Given the description of an element on the screen output the (x, y) to click on. 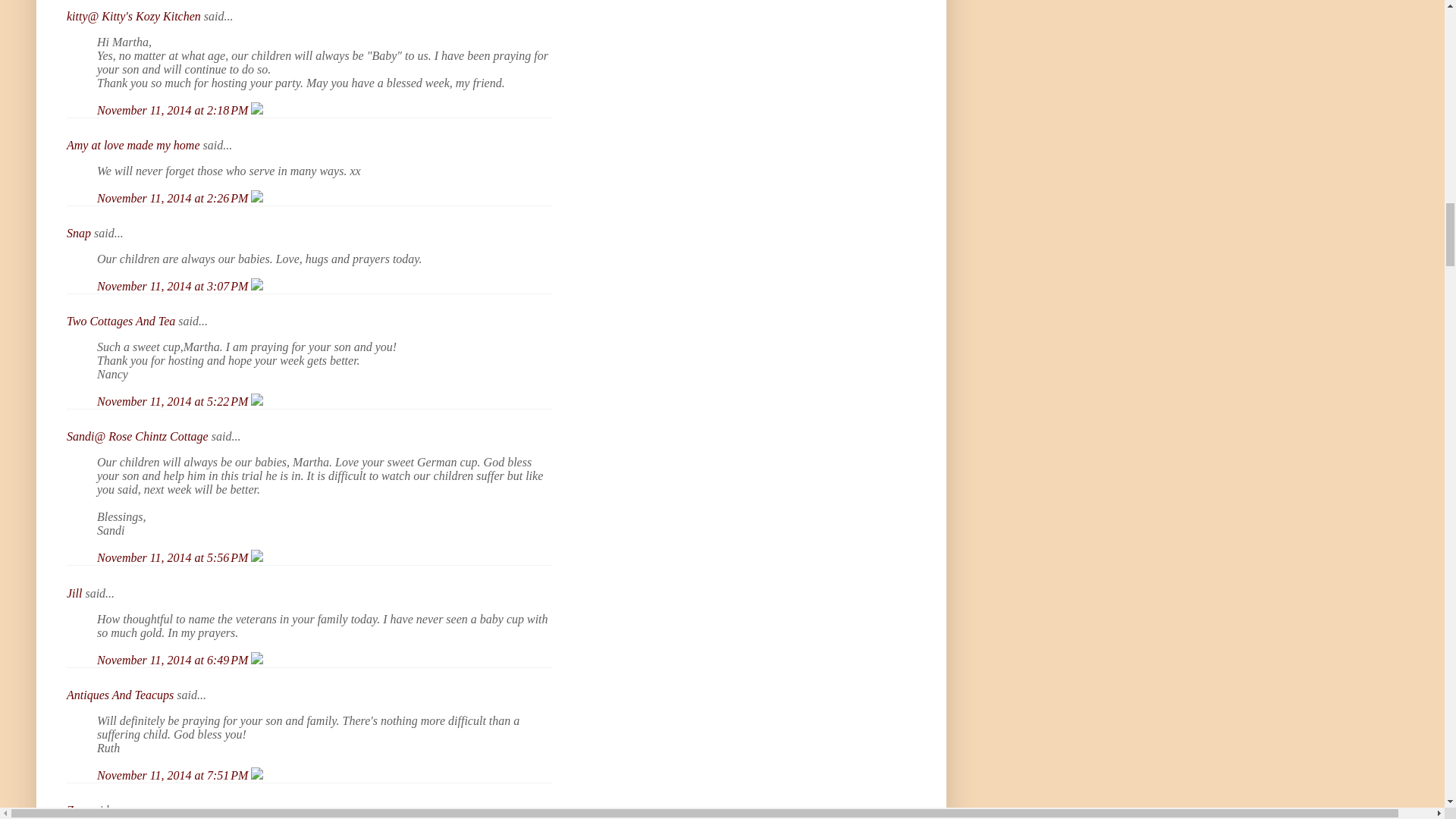
Amy at love made my home (133, 144)
Snap (78, 232)
comment permalink (173, 110)
